Given the description of an element on the screen output the (x, y) to click on. 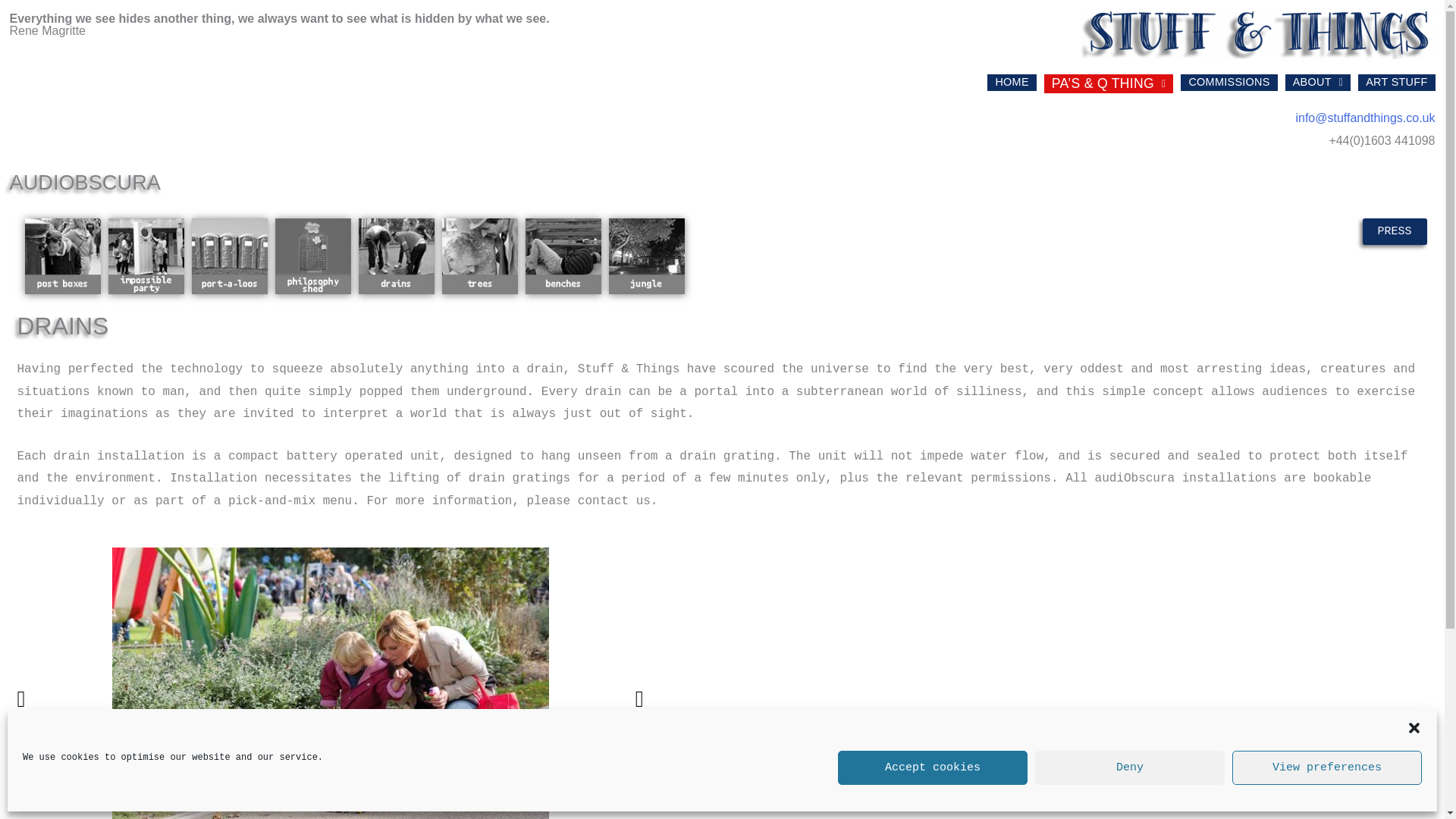
COMMISSIONS (1228, 82)
ABOUT (1318, 82)
PRESS (1394, 231)
Accept cookies (932, 767)
View preferences (1326, 767)
Deny (1129, 767)
HOME (1011, 82)
ART STUFF (1396, 82)
